Given the description of an element on the screen output the (x, y) to click on. 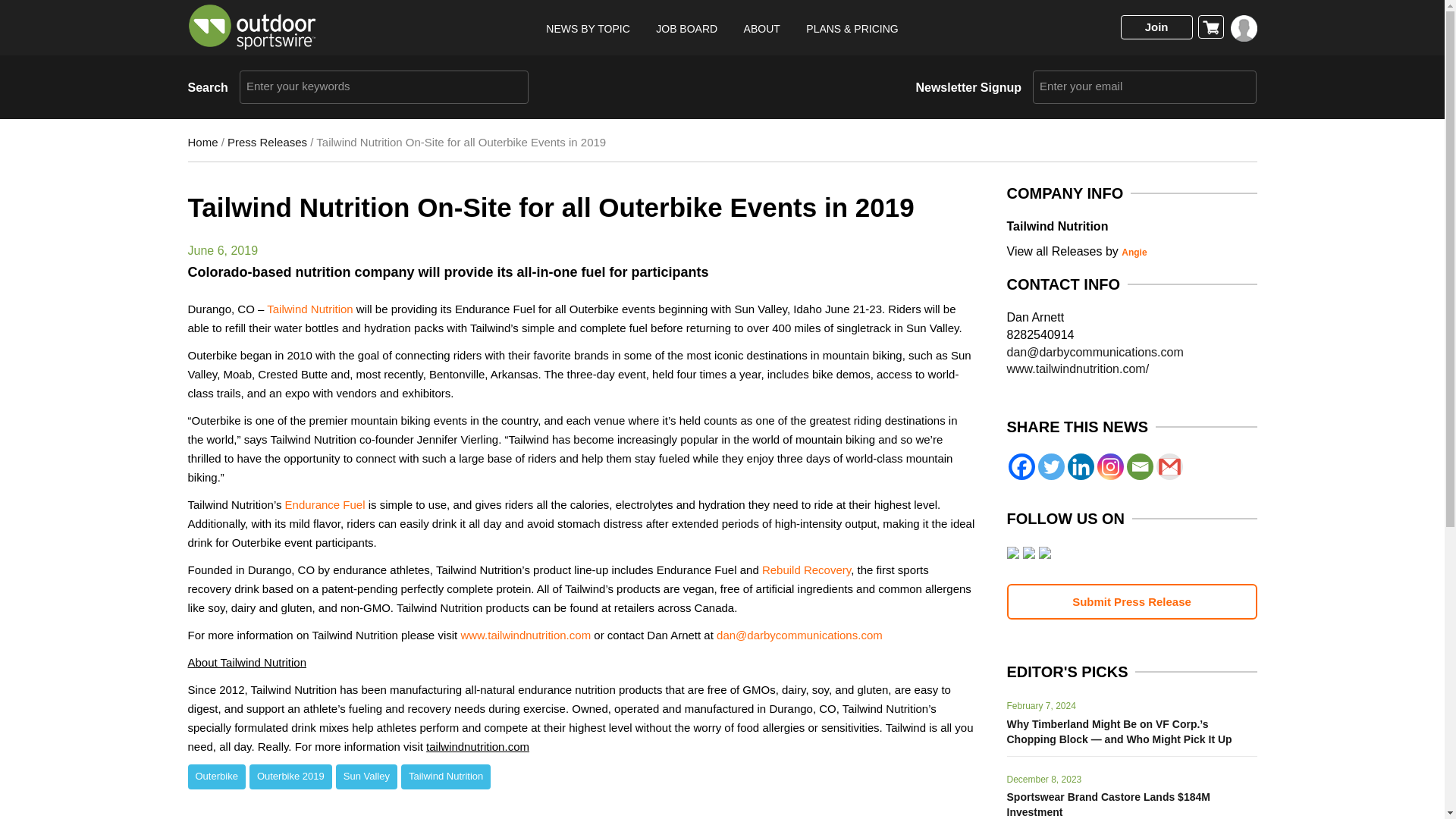
JOB BOARD (686, 28)
Join (1156, 27)
Email (1139, 466)
Twitter (1050, 466)
Home (202, 141)
Posts by Angie (1134, 252)
Google Gmail (1169, 466)
Facebook (1022, 466)
NEWS BY TOPIC (587, 28)
ABOUT (762, 28)
